Given the description of an element on the screen output the (x, y) to click on. 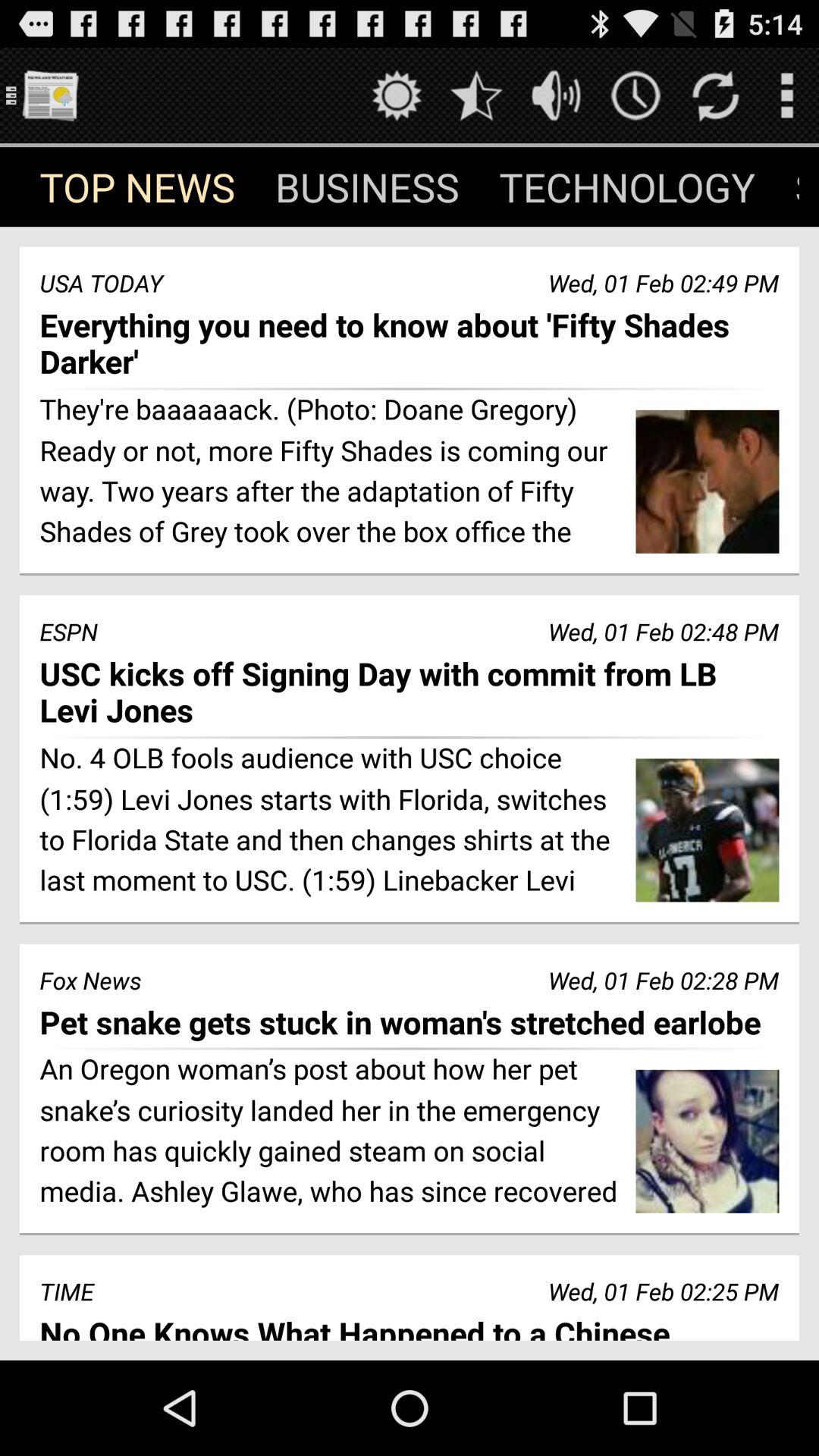
open main menu list (49, 95)
